Given the description of an element on the screen output the (x, y) to click on. 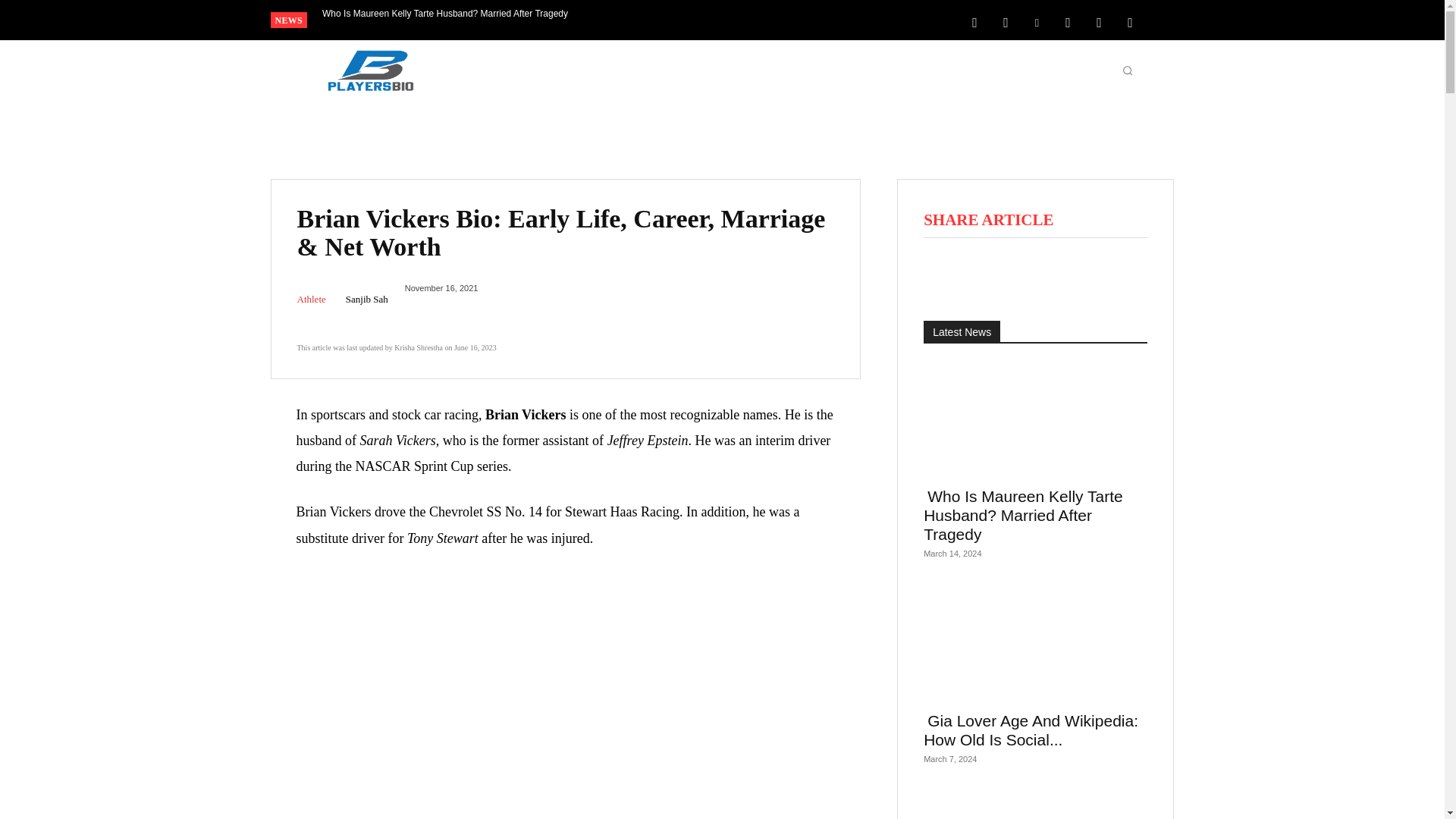
Who Is Maureen Kelly Tarte Husband? Married After Tragedy (445, 13)
Who Is Maureen Kelly Tarte Husband? Married After Tragedy (445, 13)
Instagram (1005, 21)
Facebook (974, 21)
